Given the description of an element on the screen output the (x, y) to click on. 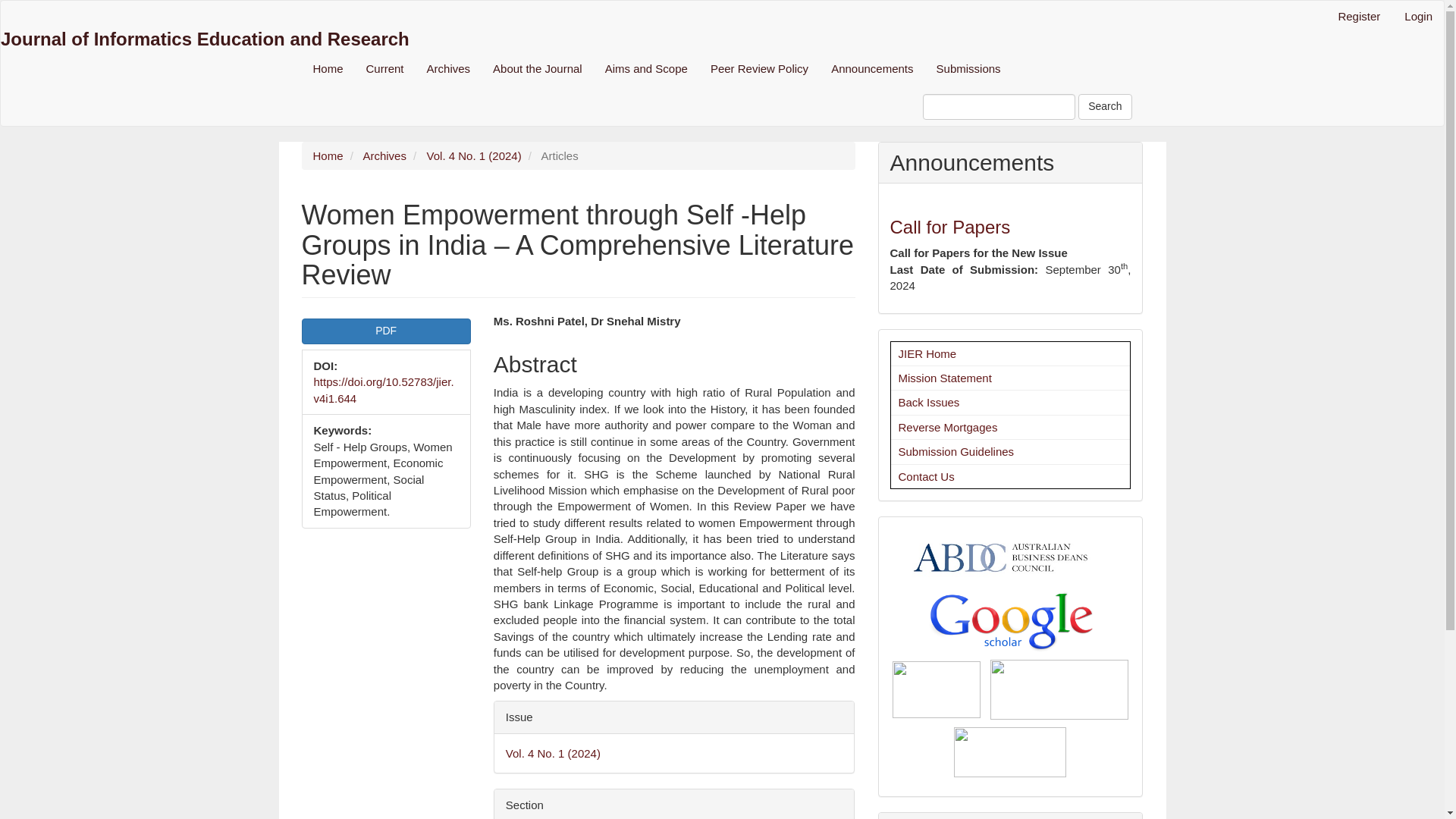
Search (1104, 106)
Login (1418, 15)
Submission Guidelines (955, 451)
Aims and Scope (646, 68)
Register (1358, 15)
Submissions (967, 68)
Announcements (871, 68)
Mission Statement (944, 377)
Home (327, 155)
Current (384, 68)
